Given the description of an element on the screen output the (x, y) to click on. 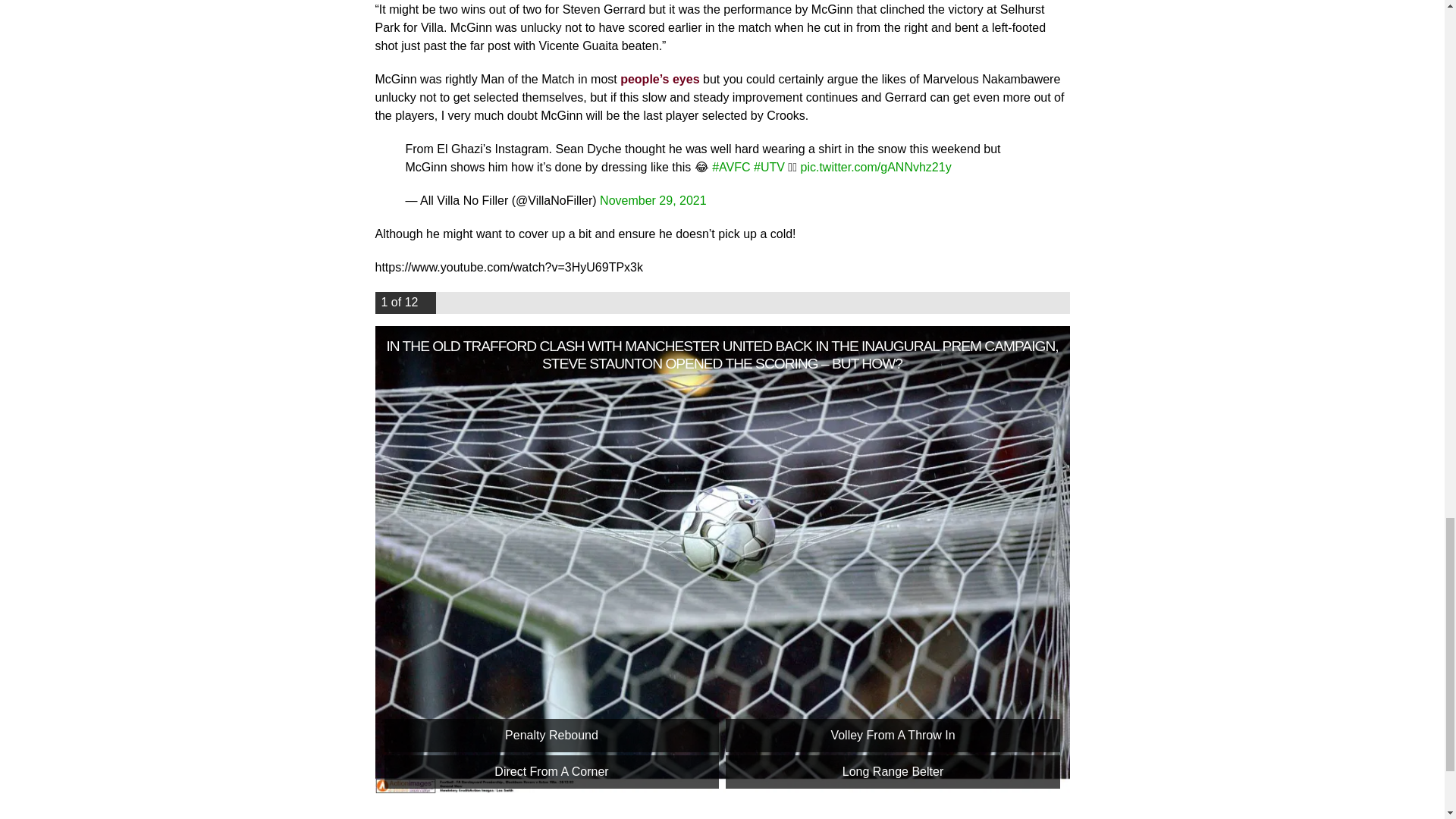
Long Range Belter (892, 771)
Direct From A Corner (551, 771)
Volley From A Throw In (892, 735)
Volley From A Throw In (892, 735)
November 29, 2021 (652, 200)
Penalty Rebound (551, 735)
Long Range Belter (892, 771)
Penalty Rebound (551, 735)
Direct From A Corner (551, 771)
